Given the description of an element on the screen output the (x, y) to click on. 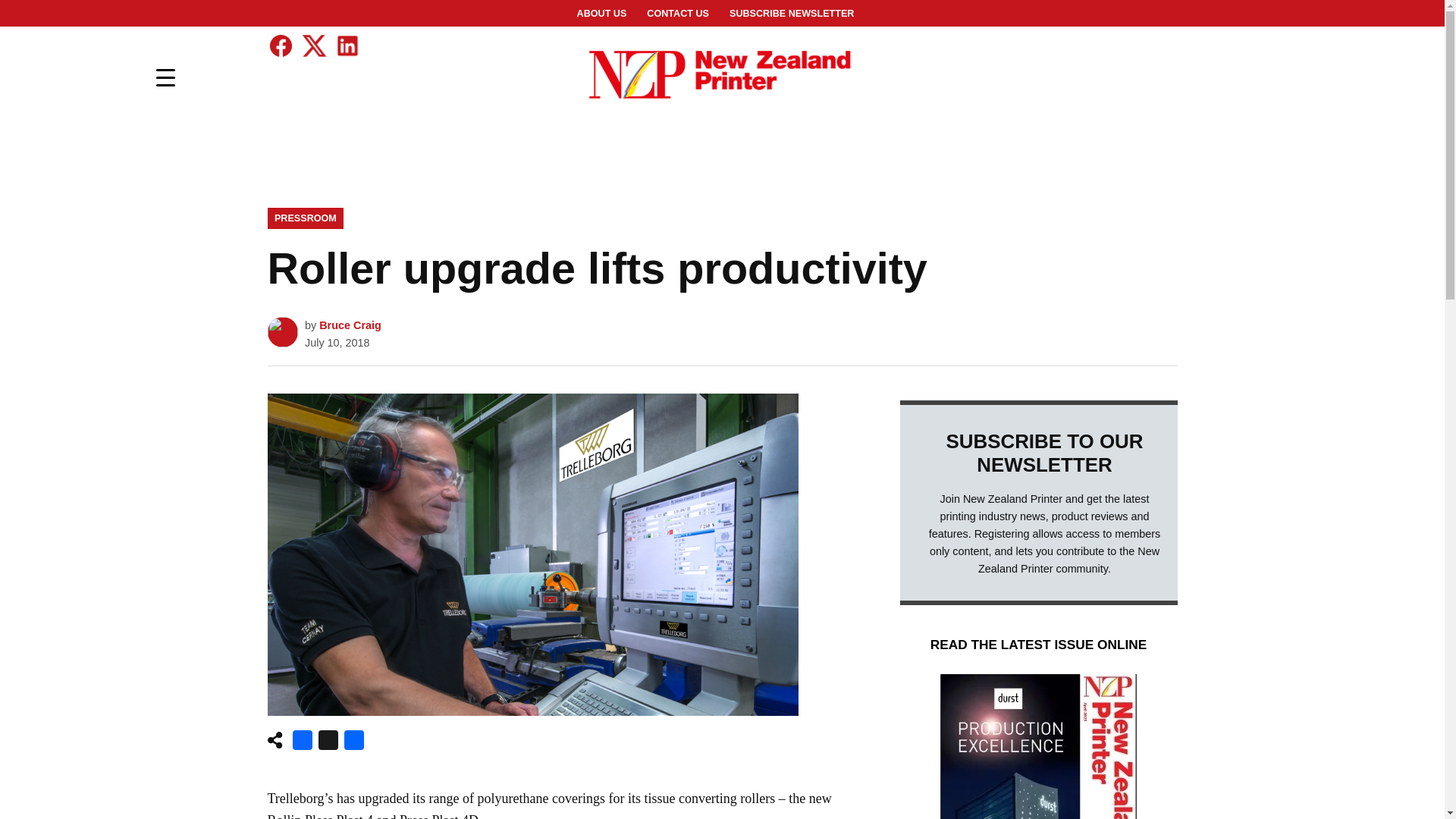
New Zealand Printer (1026, 85)
Facebook (302, 742)
CONTACT US (678, 13)
Bruce Craig (349, 325)
SUBSCRIBE NEWSLETTER (791, 13)
X (327, 742)
Share (353, 742)
Twitter (312, 45)
X (327, 742)
ABOUT US (601, 13)
PRESSROOM (304, 218)
Linkedin (346, 45)
Facebook (302, 742)
Facebook (280, 45)
